Given the description of an element on the screen output the (x, y) to click on. 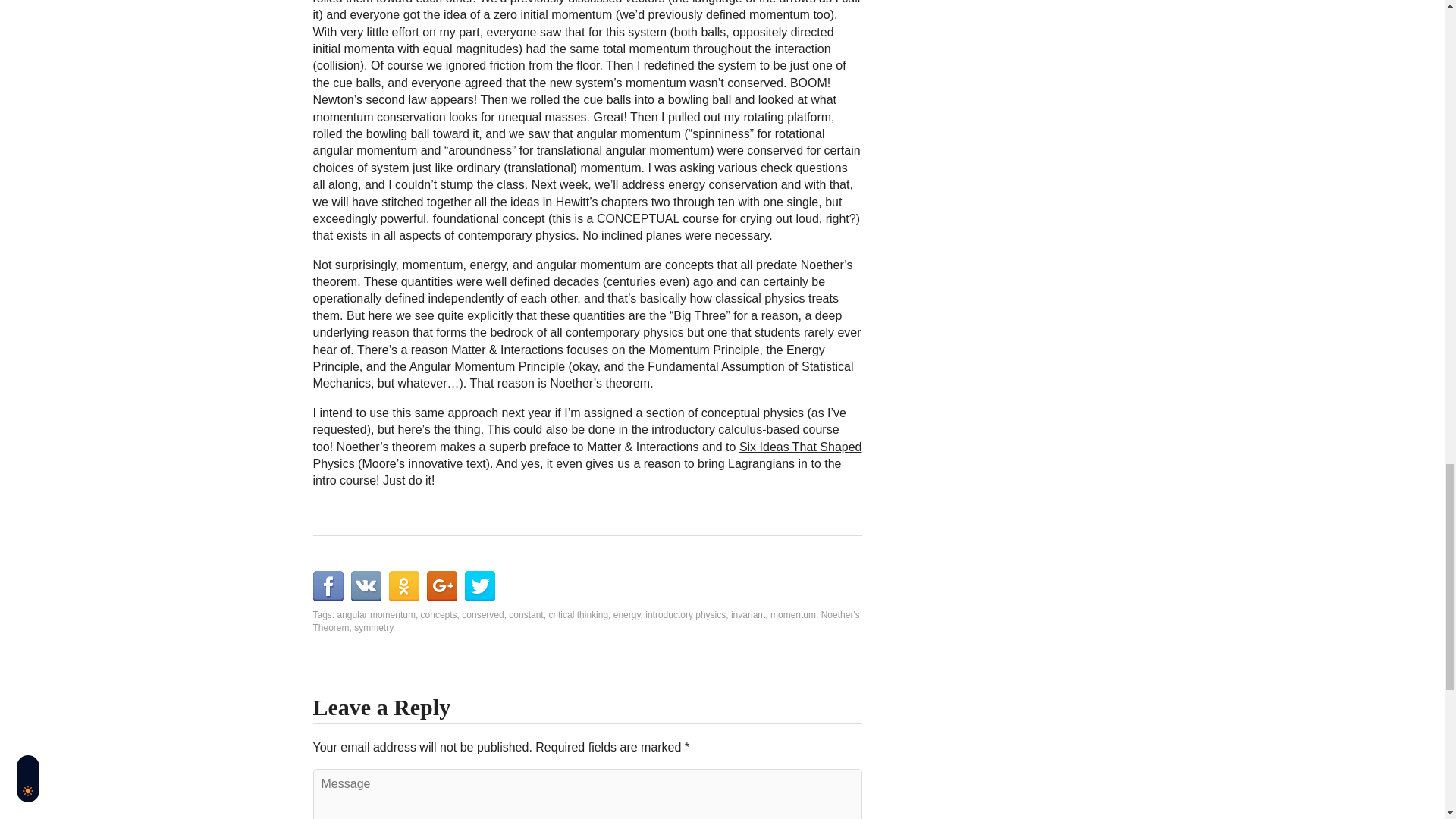
Share in OK (403, 585)
Share in Facebook (327, 585)
energy (626, 614)
Share in Twitter (479, 585)
concepts (438, 614)
angular momentum (375, 614)
Share in VK (365, 585)
Six Ideas That Shaped Physics (587, 455)
conserved (482, 614)
critical thinking (578, 614)
